Given the description of an element on the screen output the (x, y) to click on. 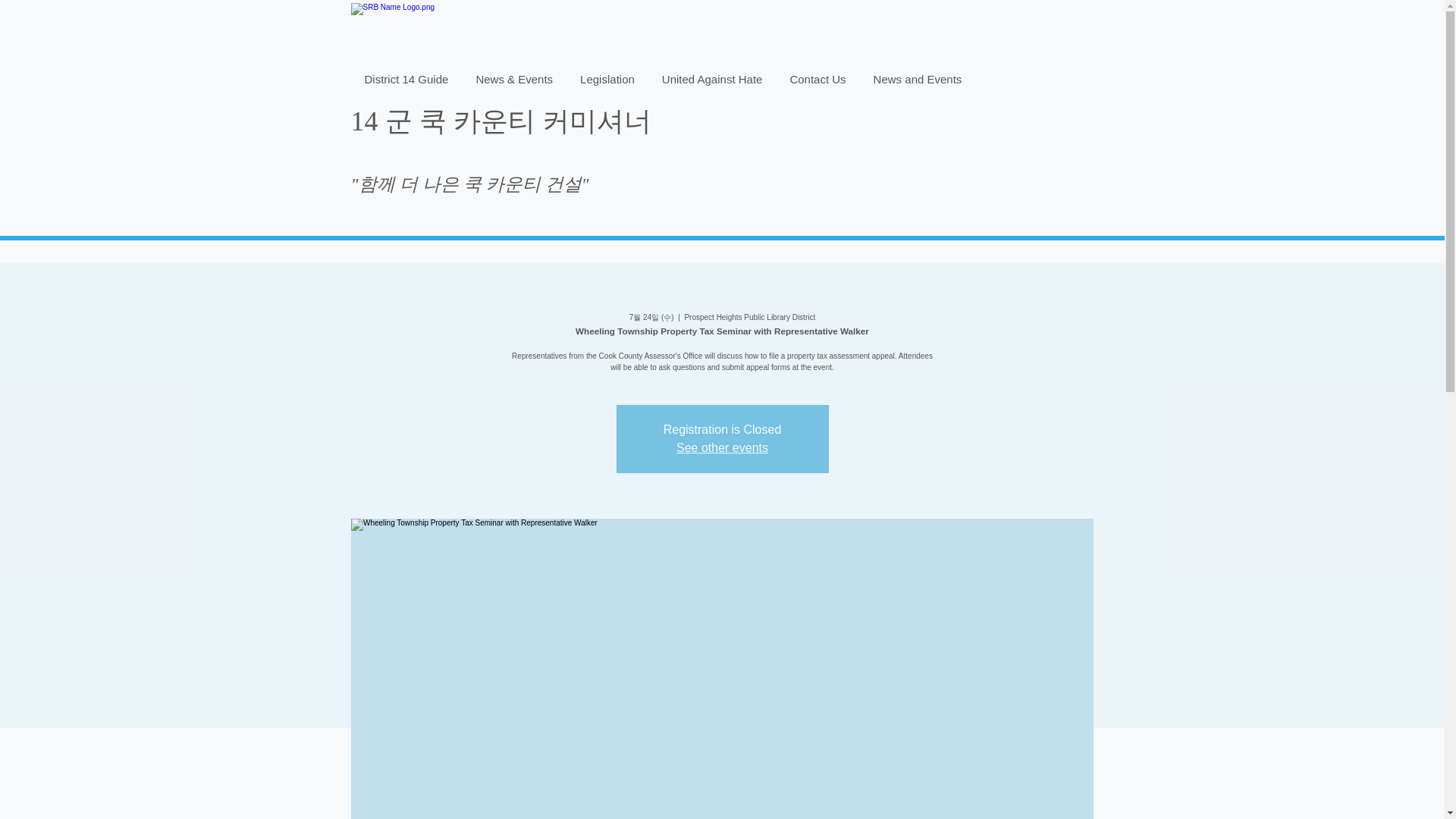
See other events (722, 447)
Contact Us (817, 82)
United Against Hate (711, 82)
District 14 Guide (405, 82)
Legislation (606, 82)
